Given the description of an element on the screen output the (x, y) to click on. 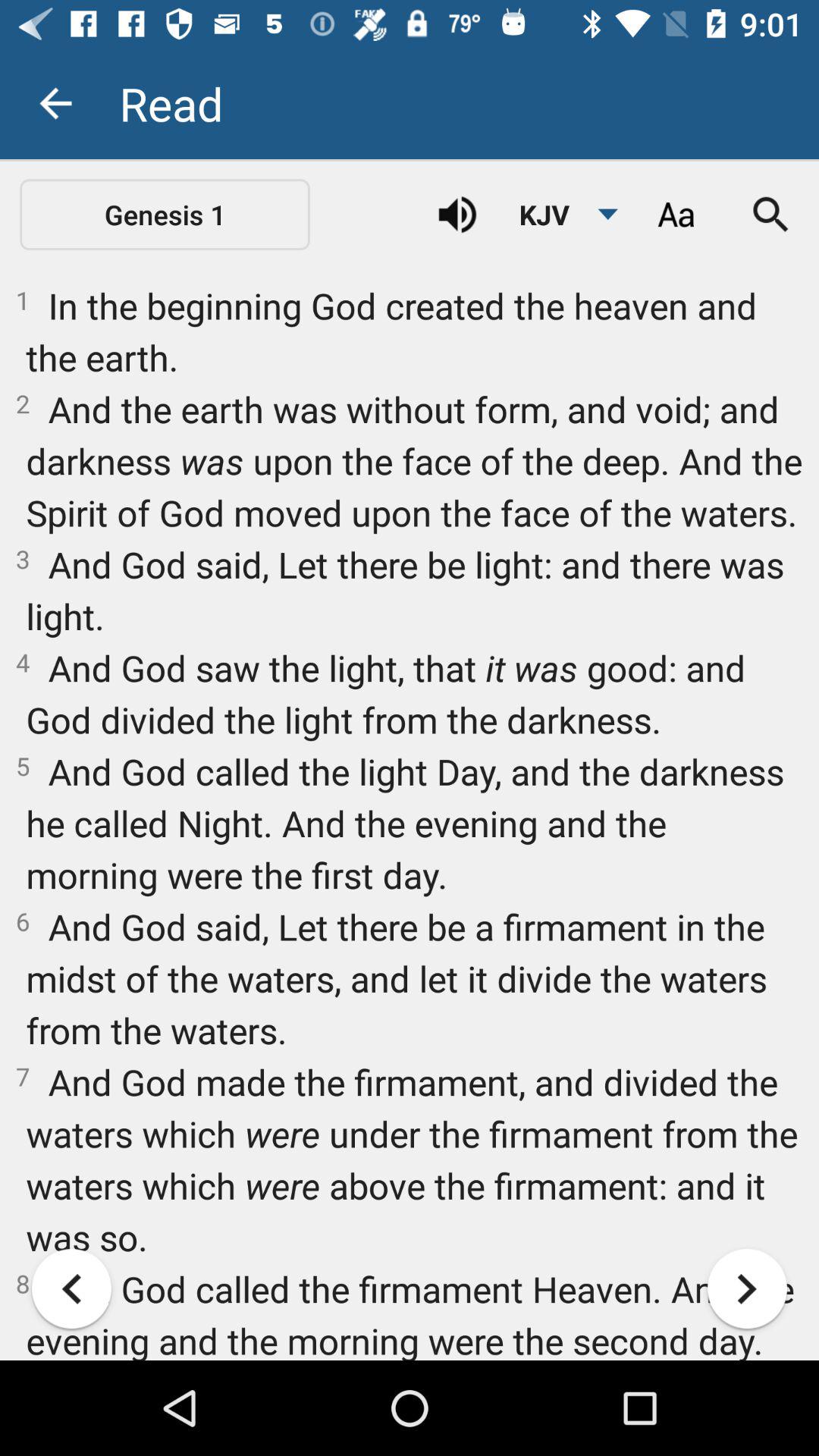
search the text (771, 214)
